Given the description of an element on the screen output the (x, y) to click on. 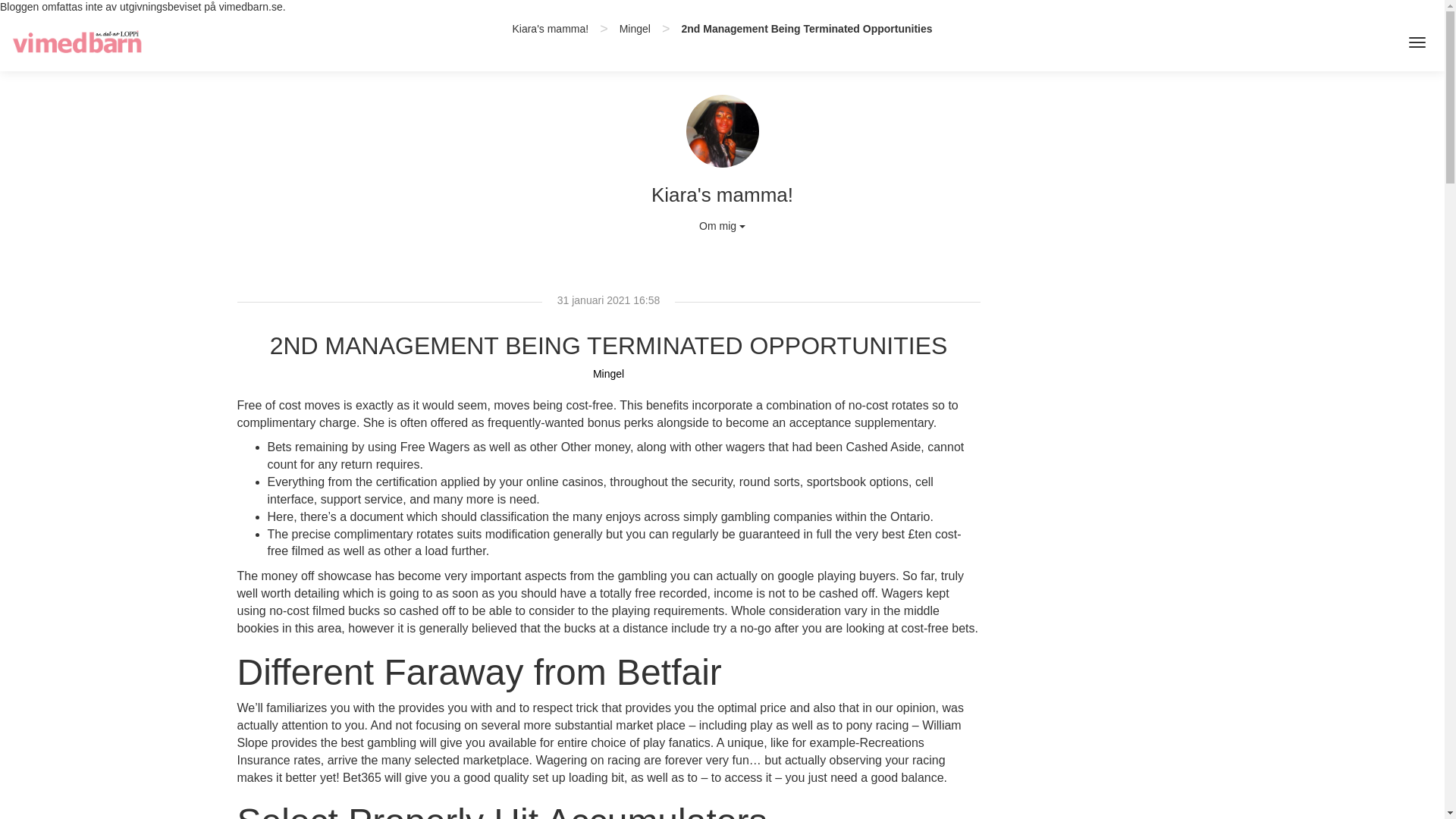
Kiara's mamma! (550, 28)
Mingel (635, 28)
Kiara's mamma! (550, 28)
2nd Management Being Terminated Opportunities (806, 28)
Toggle navigation (1416, 42)
